Given the description of an element on the screen output the (x, y) to click on. 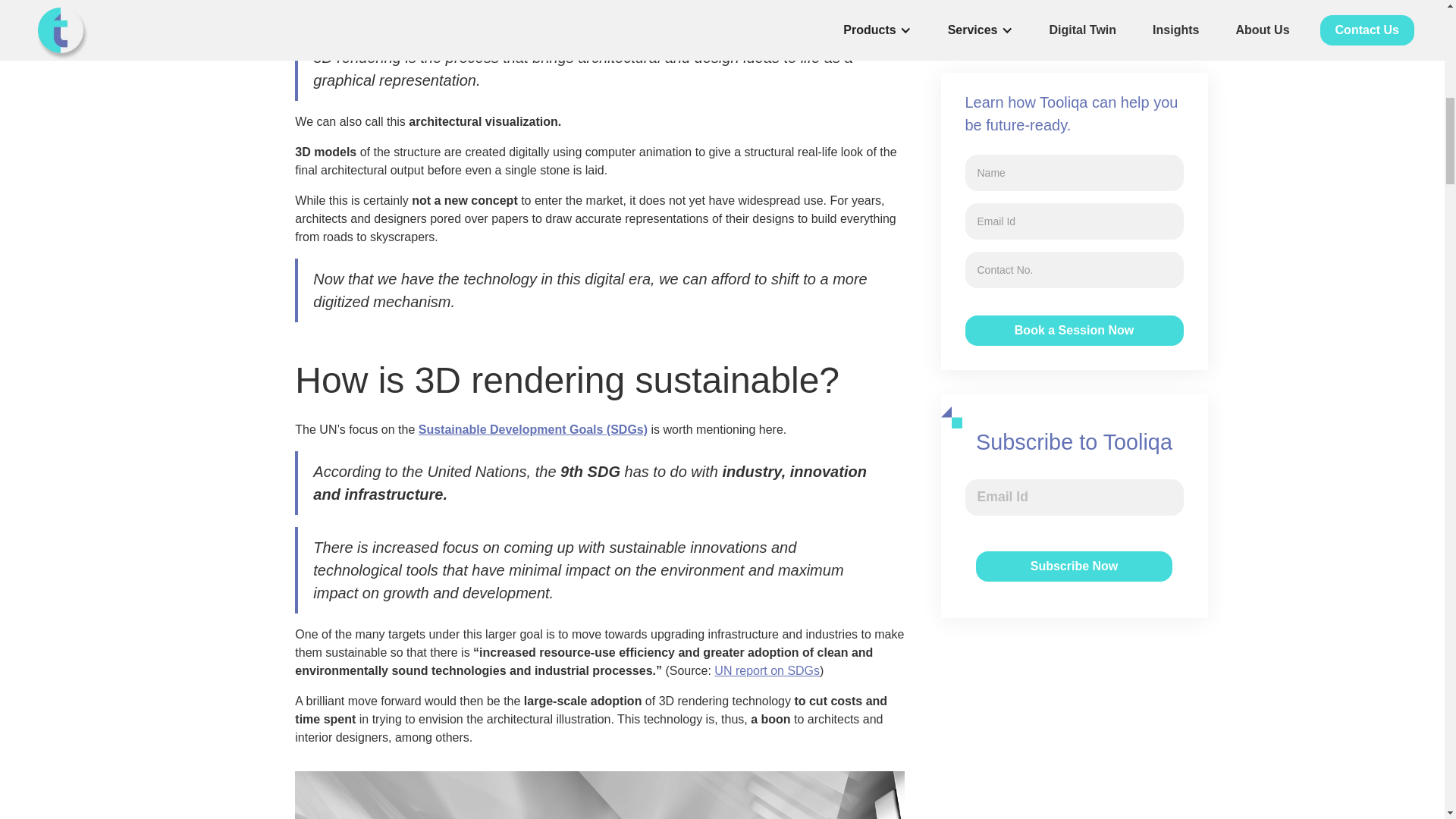
Subscribe Now (1073, 208)
UN report on SDGs (766, 670)
